Given the description of an element on the screen output the (x, y) to click on. 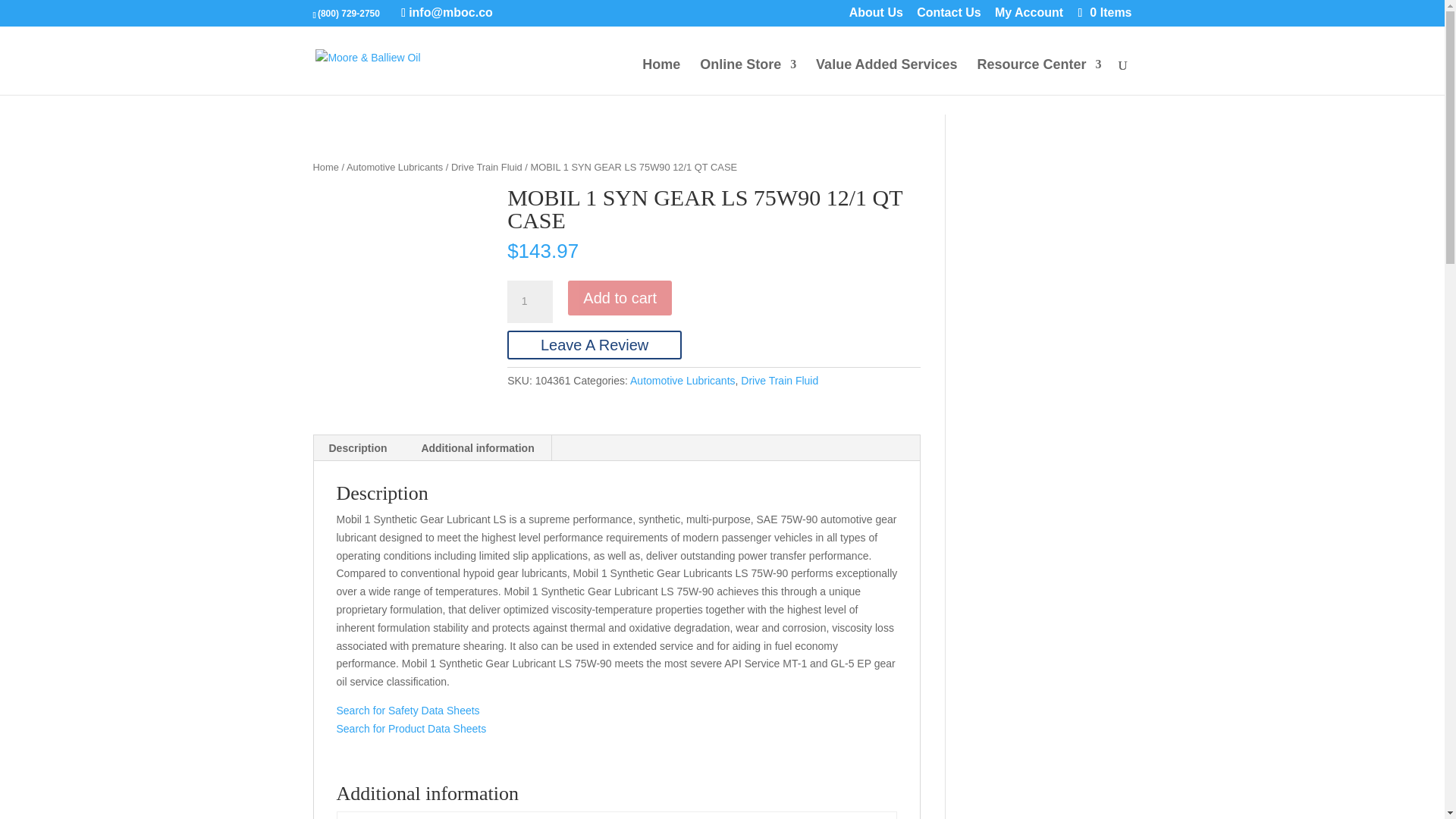
Home (660, 76)
Contact Us (948, 17)
Value Added Services (885, 76)
Automotive Lubricants (394, 166)
Online Store (748, 76)
About Us (875, 17)
Drive Train Fluid (486, 166)
Add to cart (619, 297)
Resource Center (1038, 76)
Additional information (477, 447)
